Given the description of an element on the screen output the (x, y) to click on. 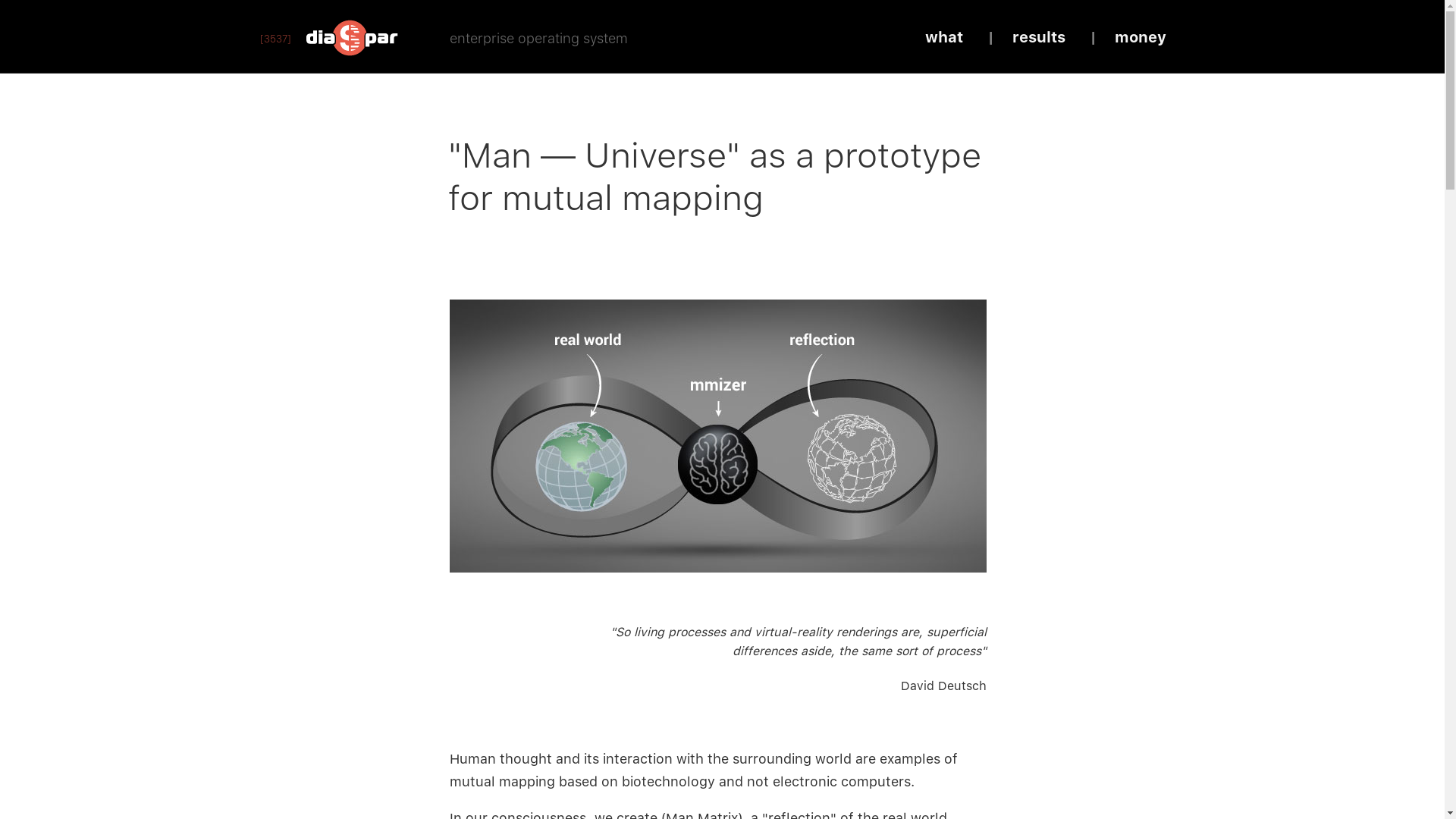
results Element type: text (1037, 37)
money Element type: text (1140, 37)
enterprise operating system Element type: text (537, 38)
what Element type: text (944, 37)
